Given the description of an element on the screen output the (x, y) to click on. 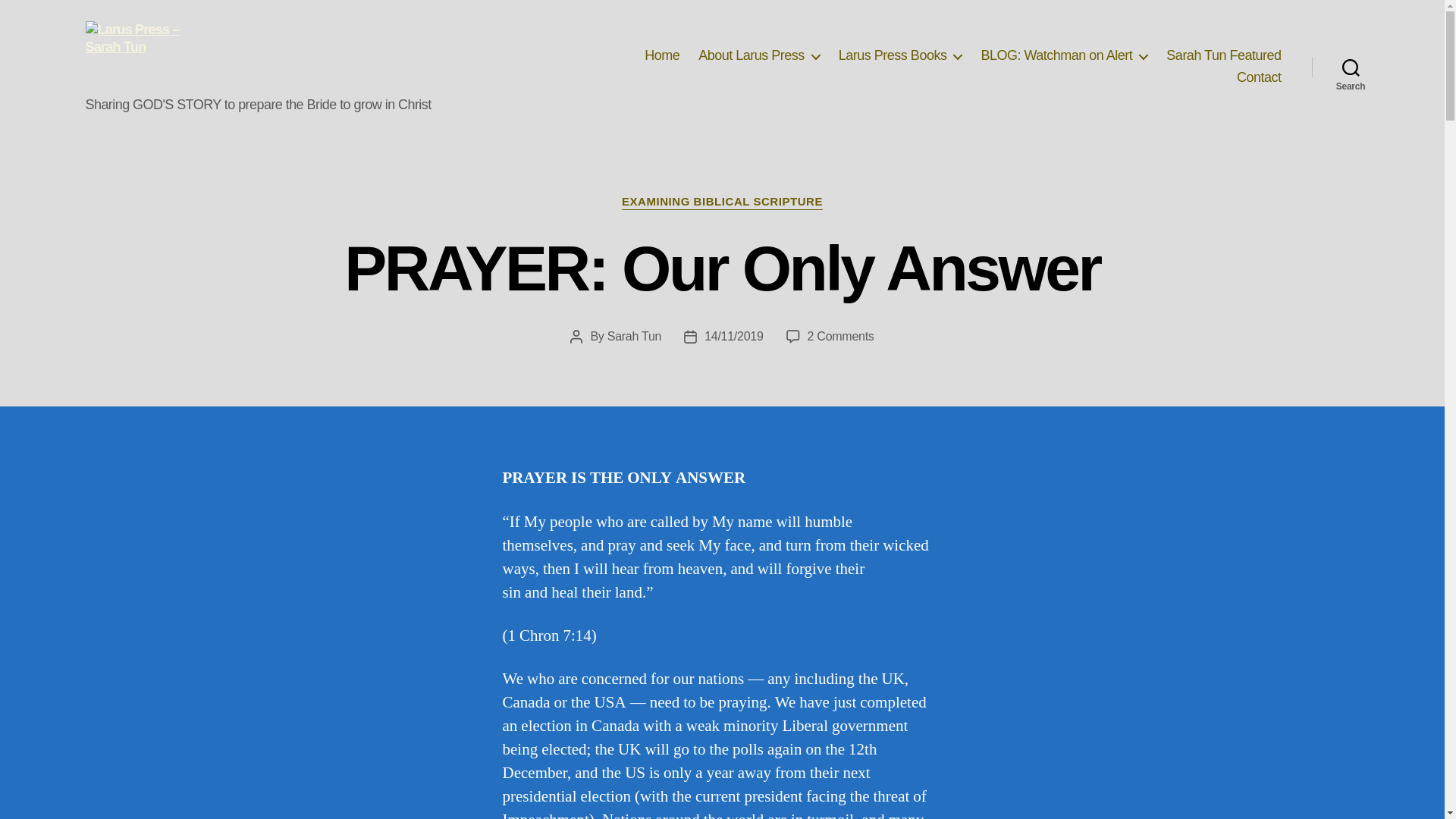
Contact (1258, 77)
Search (1350, 66)
About Larus Press (758, 55)
BLOG: Watchman on Alert (1063, 55)
Sarah Tun Featured (1223, 55)
Home (662, 55)
Larus Press Books (900, 55)
